Given the description of an element on the screen output the (x, y) to click on. 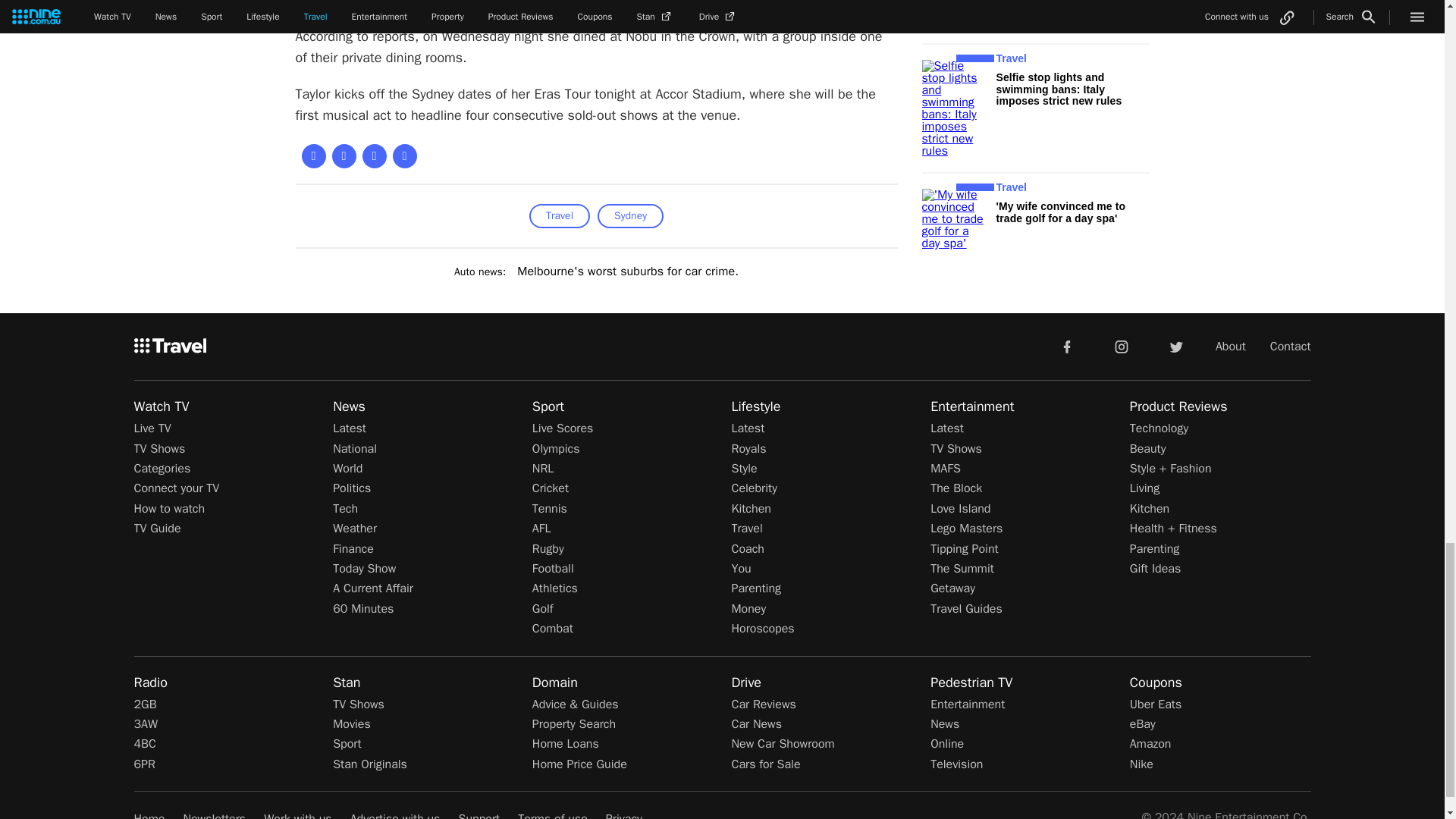
instagram (1121, 345)
facebook (1066, 345)
twitter (1175, 345)
